Given the description of an element on the screen output the (x, y) to click on. 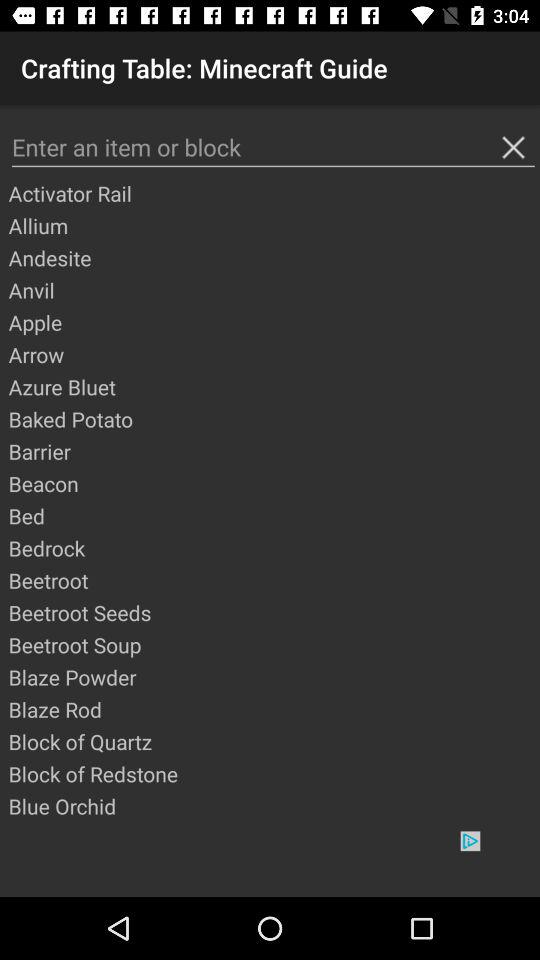
launch app above anvil app (273, 257)
